Given the description of an element on the screen output the (x, y) to click on. 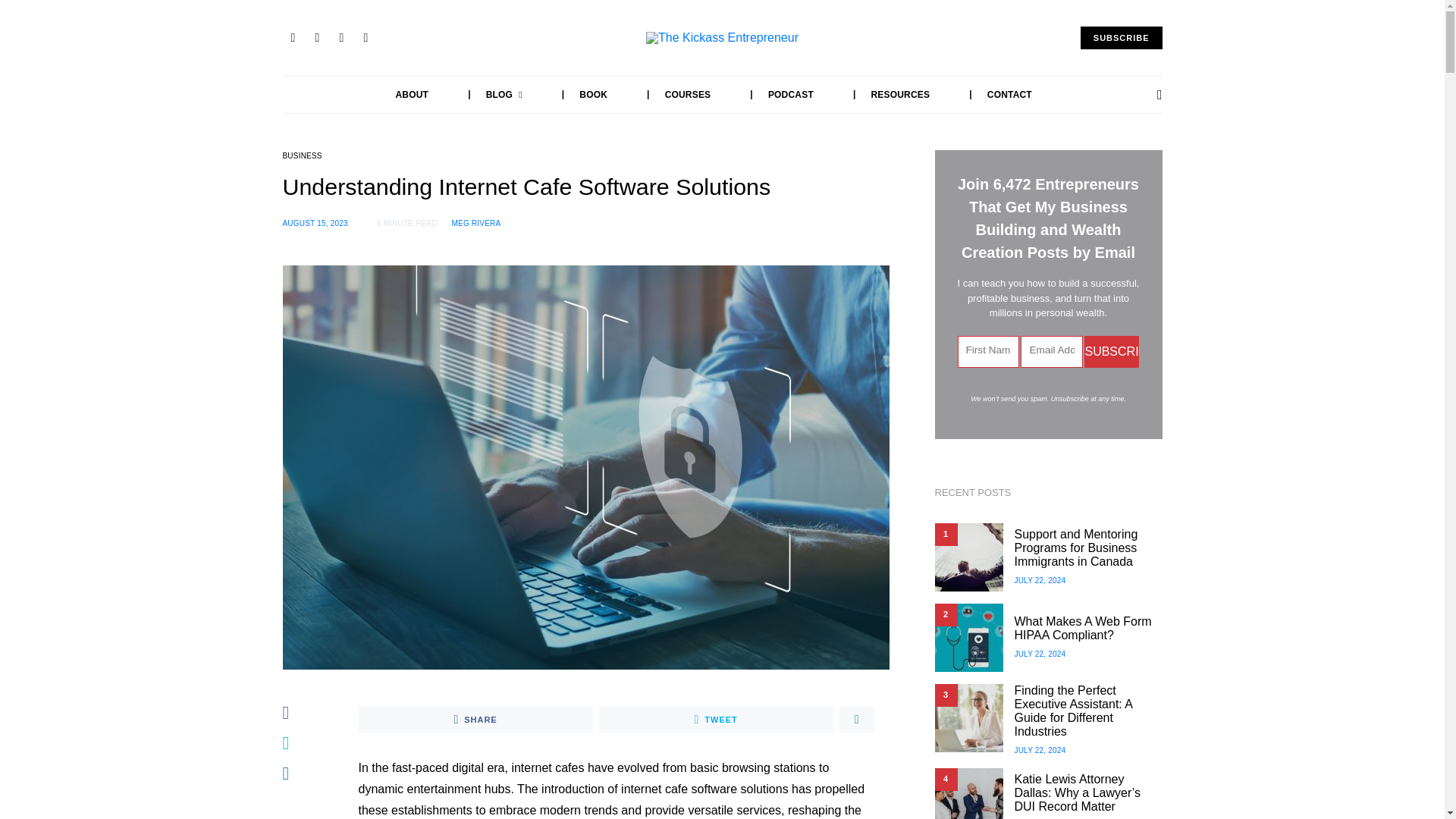
SUBSCRIBE (1120, 37)
ABOUT (412, 94)
BLOG (487, 94)
View all posts by Meg Rivera (475, 223)
